Given the description of an element on the screen output the (x, y) to click on. 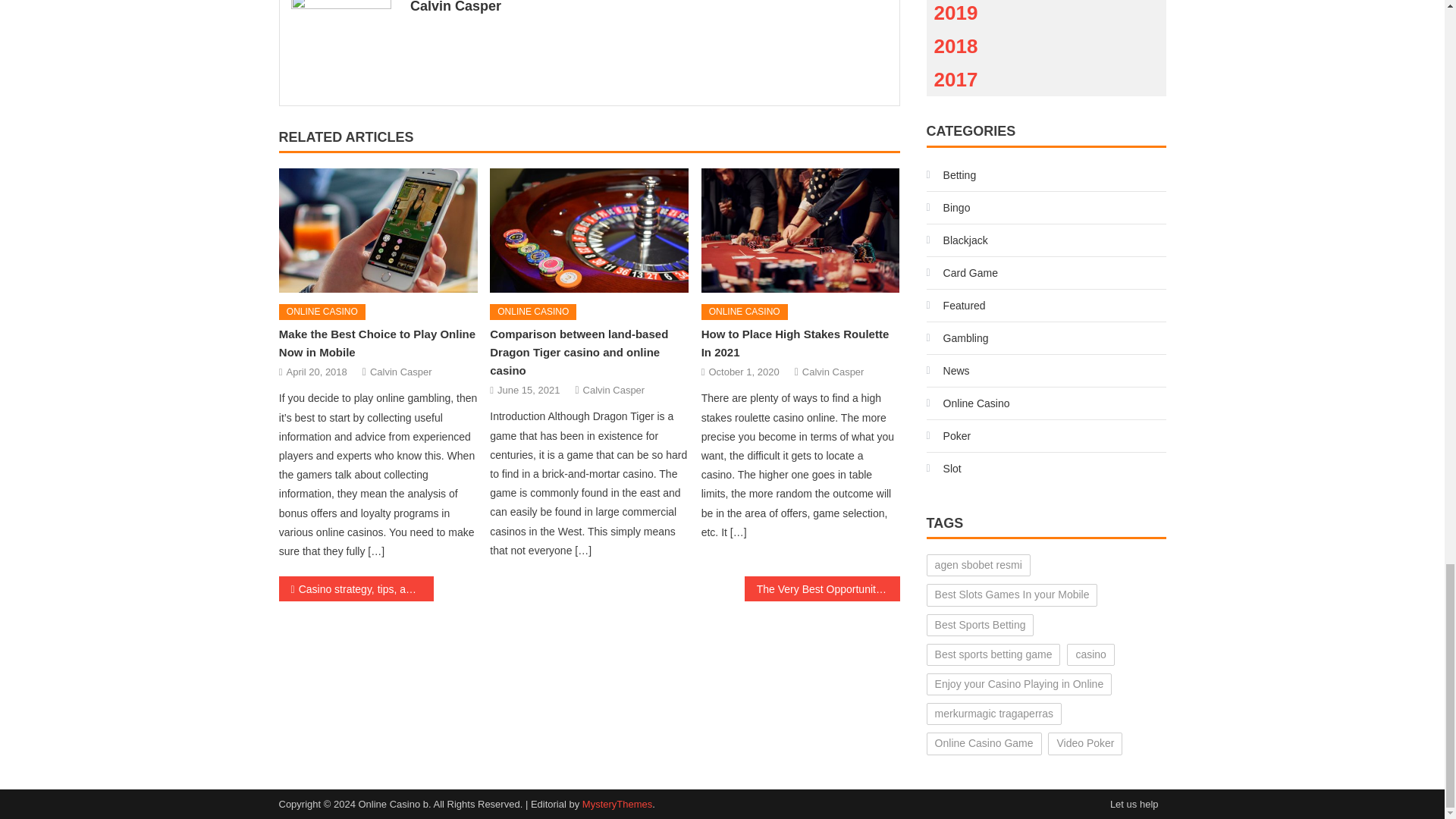
October 1, 2020 (742, 371)
June 15, 2021 (528, 389)
Calvin Casper (400, 371)
April 20, 2018 (316, 371)
Calvin Casper (614, 389)
Make the Best Choice to Play Online Now in Mobile (378, 230)
ONLINE CASINO (322, 312)
Calvin Casper (833, 371)
Casino strategy, tips, and tactics (356, 588)
ONLINE CASINO (744, 312)
The Very Best Opportunities for Pin Up Casino Games Here (821, 588)
How to Place High Stakes Roulette In 2021 (795, 342)
Make the Best Choice to Play Online Now in Mobile (377, 342)
